Given the description of an element on the screen output the (x, y) to click on. 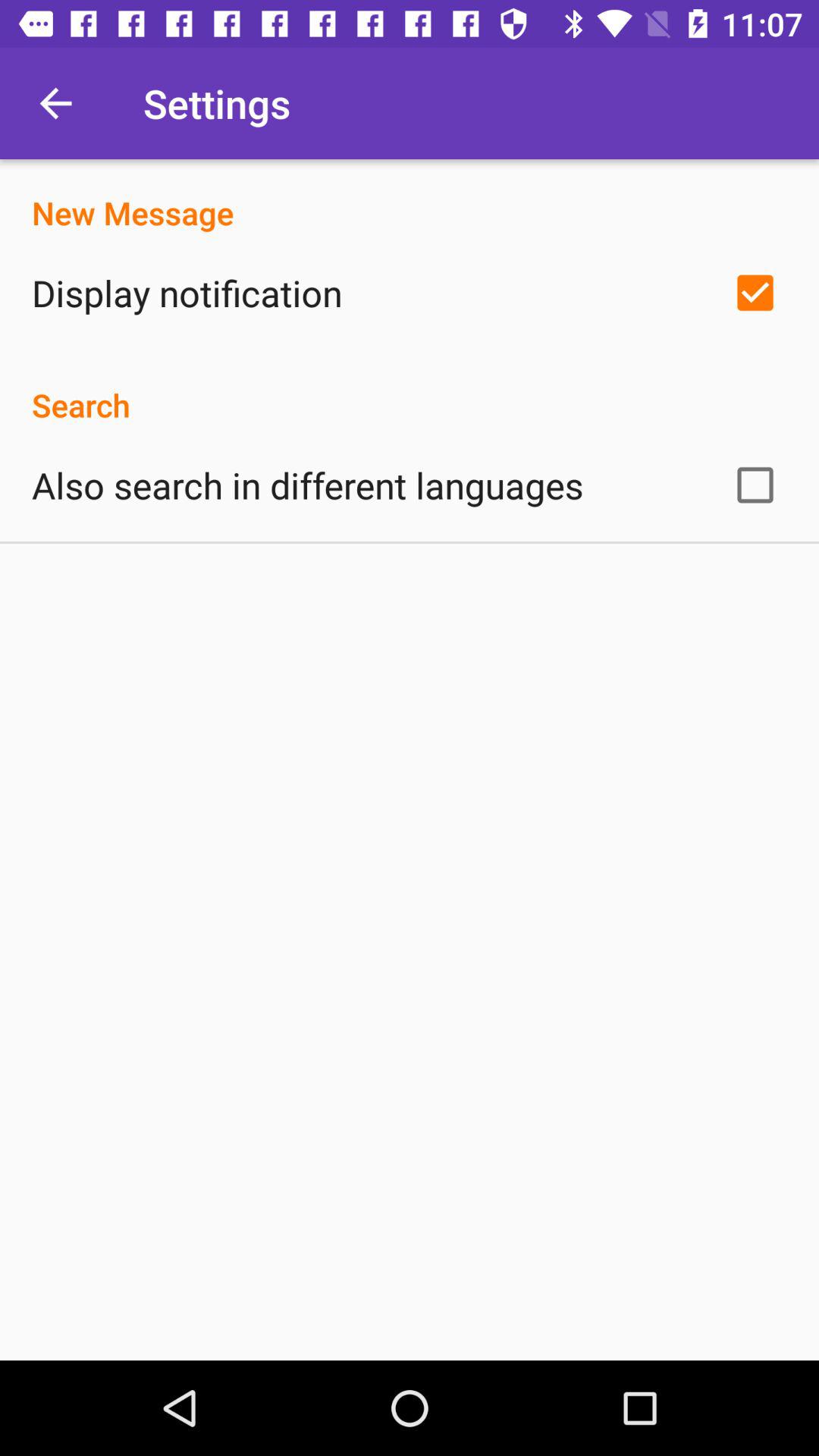
turn on item below new message (186, 292)
